Given the description of an element on the screen output the (x, y) to click on. 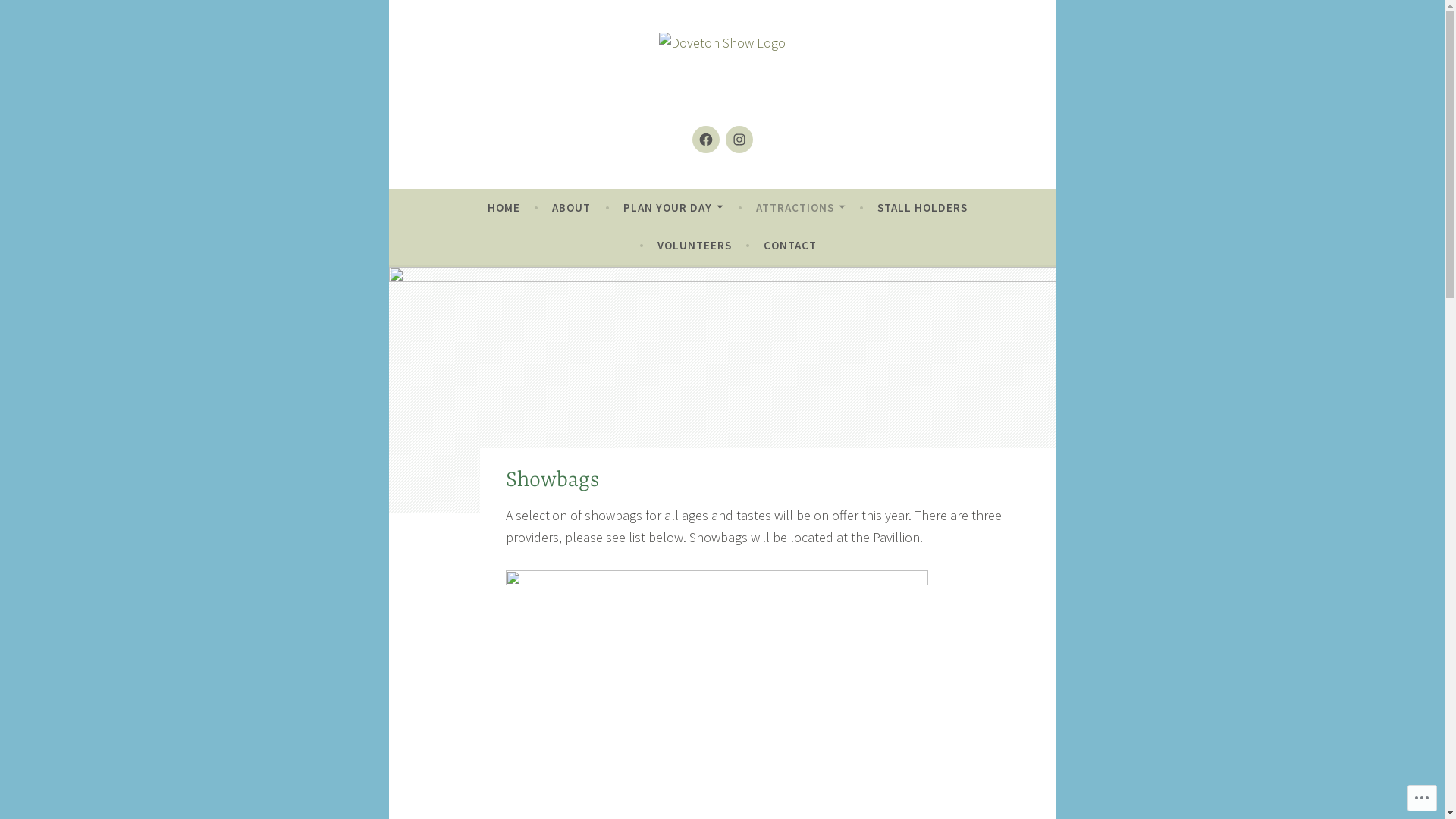
ATTRACTIONS Element type: text (800, 207)
VOLUNTEERS Element type: text (693, 245)
Facebook Doveton Show Element type: hover (704, 139)
STALL HOLDERS Element type: text (922, 207)
PLAN YOUR DAY Element type: text (673, 207)
Instagram Doveton Show Element type: hover (738, 139)
ABOUT Element type: text (571, 207)
CONTACT Element type: text (789, 245)
HOME Element type: text (503, 207)
